Given the description of an element on the screen output the (x, y) to click on. 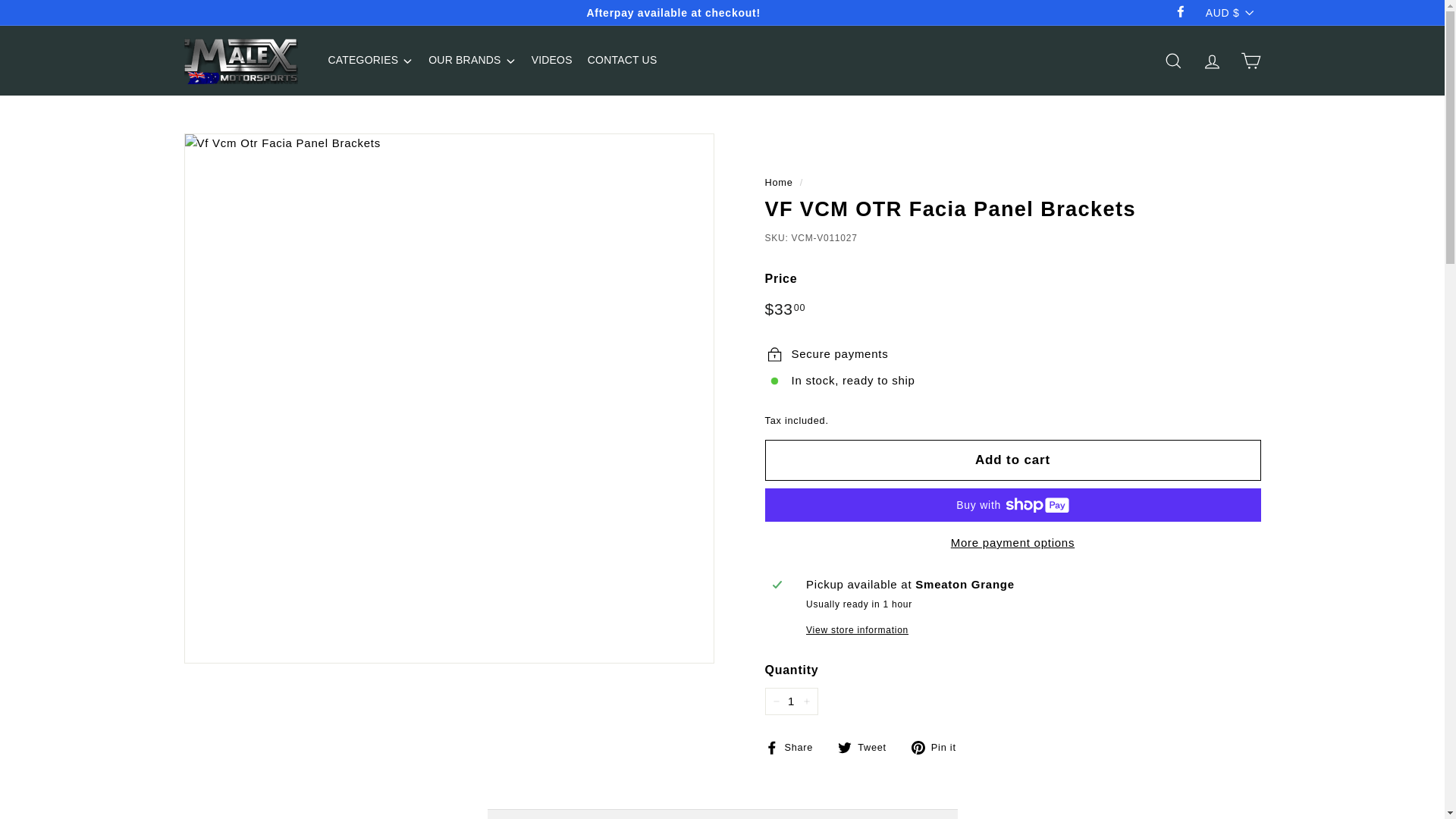
Share on Facebook (794, 746)
CATEGORIES (370, 60)
Videos (551, 60)
Tweet on Twitter (868, 746)
Pin on Pinterest (939, 746)
Back to the frontpage (778, 182)
Our Brands (471, 60)
Contact us (622, 60)
1 (790, 700)
